Given the description of an element on the screen output the (x, y) to click on. 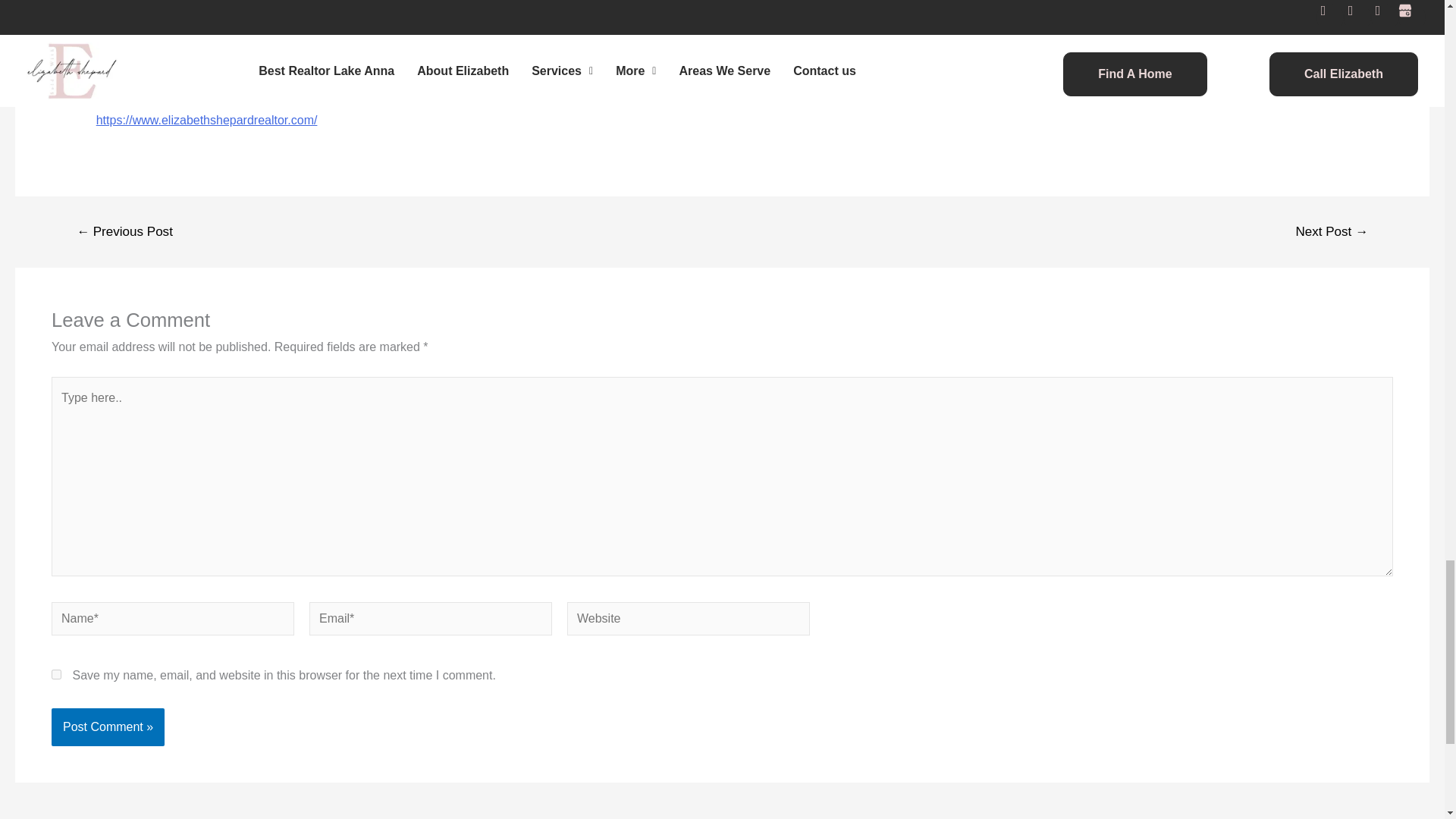
yes (55, 674)
